Given the description of an element on the screen output the (x, y) to click on. 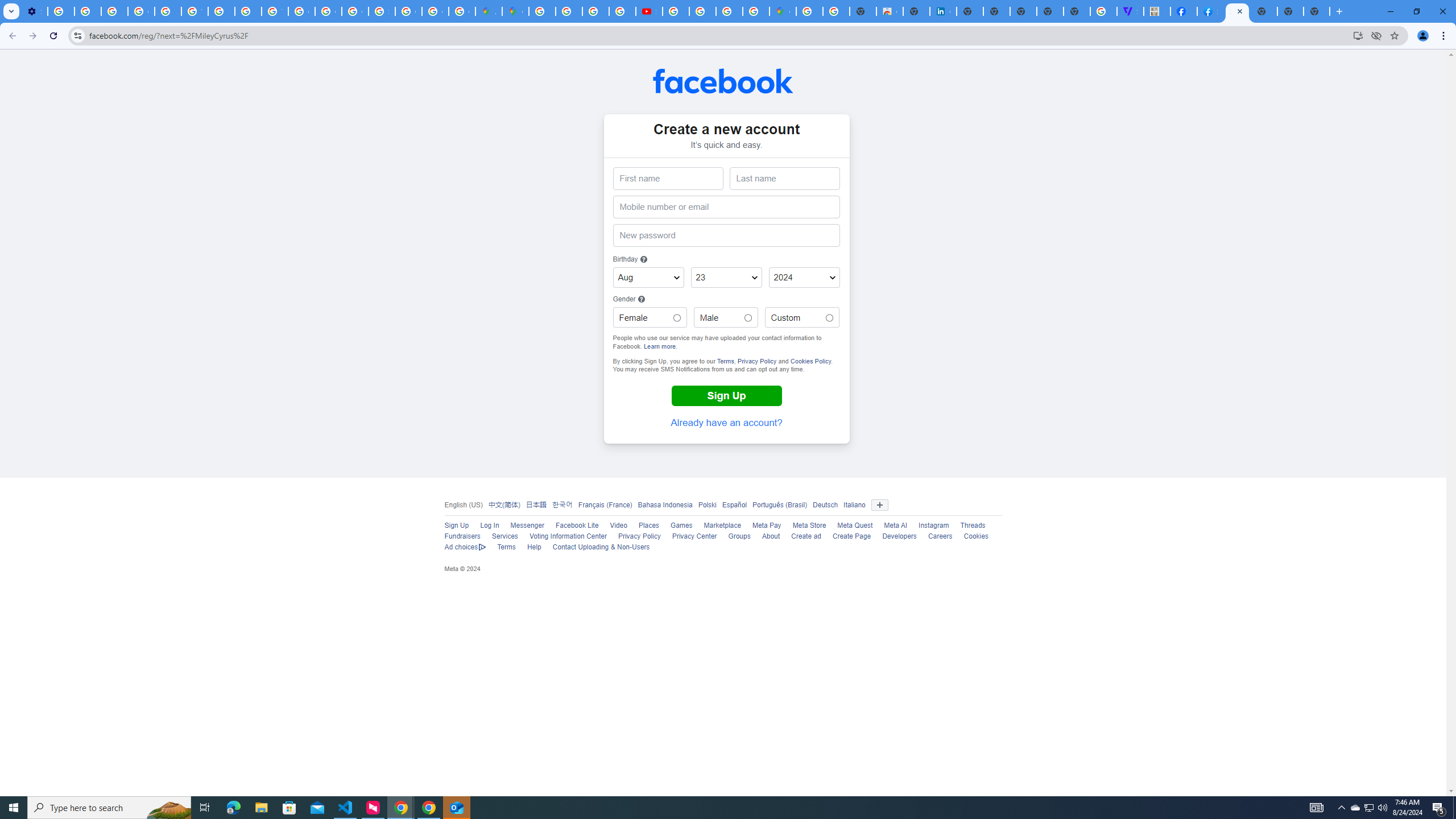
Back (10, 35)
Male (747, 317)
Create ad (805, 536)
Privacy Help Center - Policies Help (167, 11)
Cookies Policy (810, 360)
Day (725, 277)
Fundraisers (462, 536)
New Tab (1316, 11)
Custom (829, 317)
Games (681, 525)
Privacy Help Center - Policies Help (595, 11)
Google Maps (515, 11)
